Given the description of an element on the screen output the (x, y) to click on. 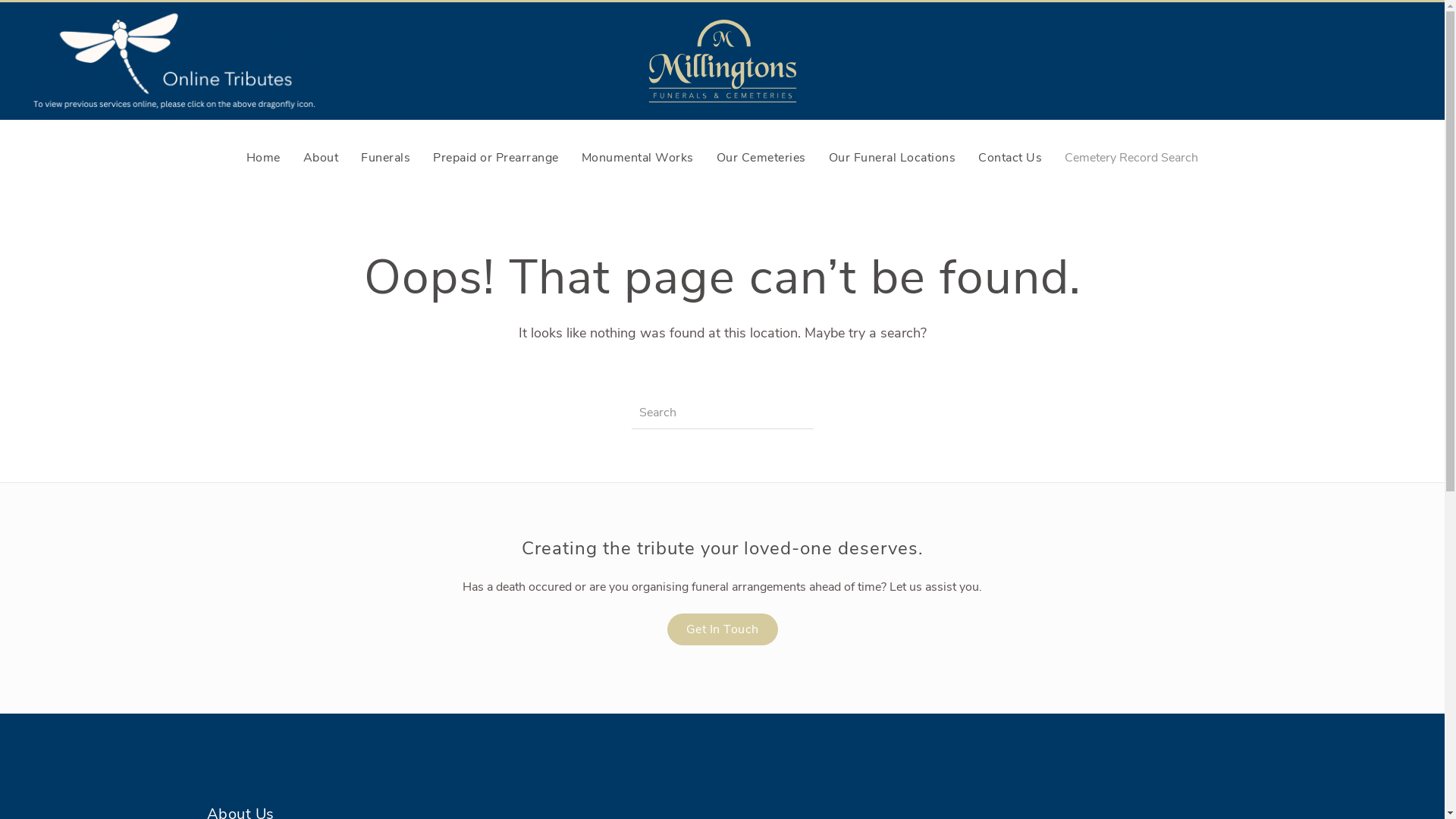
Our Cemeteries Element type: text (761, 157)
Contact Us Element type: text (1009, 157)
Prepaid or Prearrange Element type: text (495, 157)
Our Funeral Locations Element type: text (892, 157)
Monumental Works Element type: text (637, 157)
About Element type: text (320, 157)
Cemetery Record Search Element type: text (1131, 157)
Funerals Element type: text (385, 157)
Get In Touch Element type: text (722, 629)
Home Element type: text (263, 157)
